Given the description of an element on the screen output the (x, y) to click on. 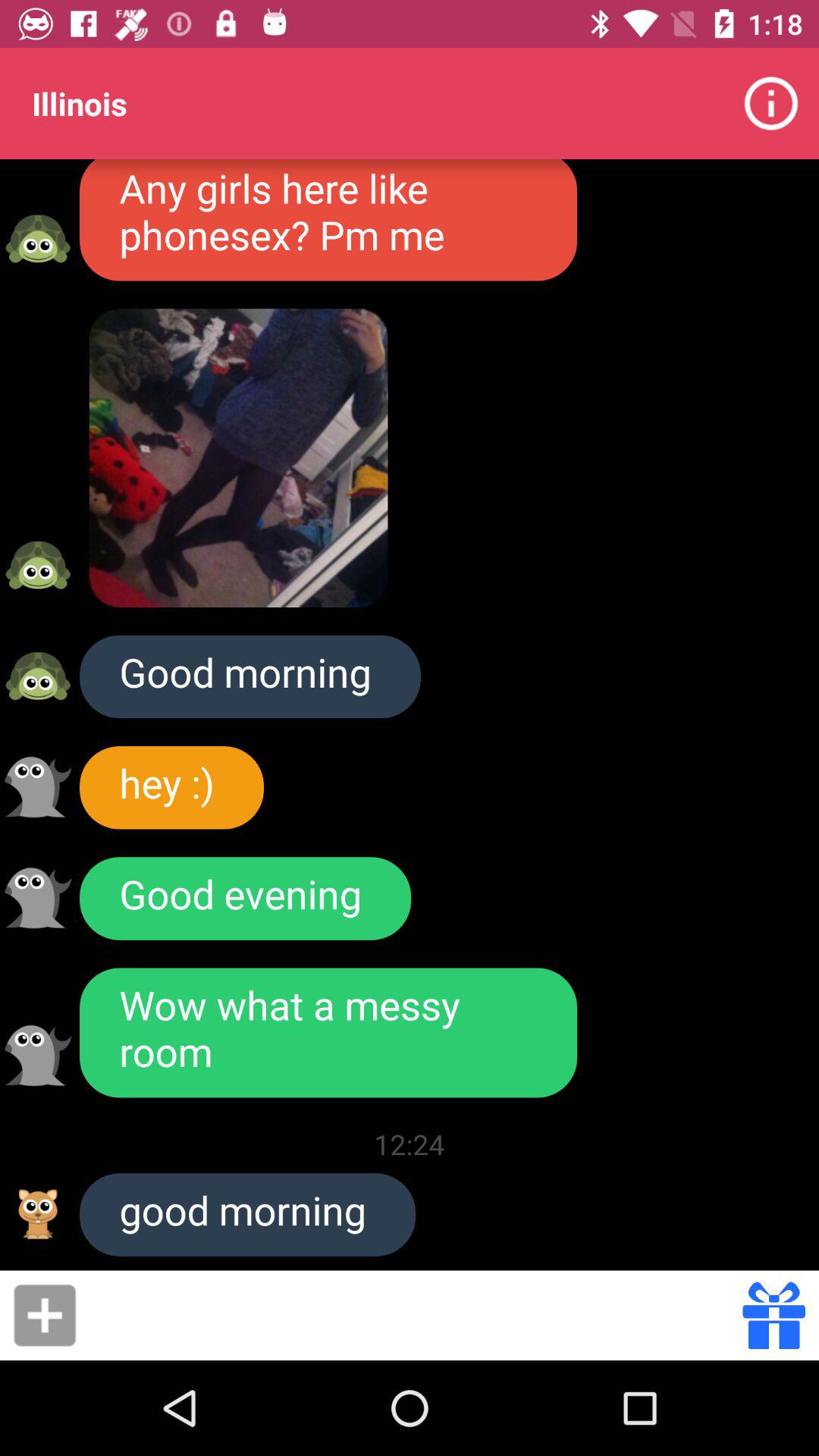
select the image which is below any girls here like phonesex pm me (238, 457)
move to the text input (414, 1315)
